Given the description of an element on the screen output the (x, y) to click on. 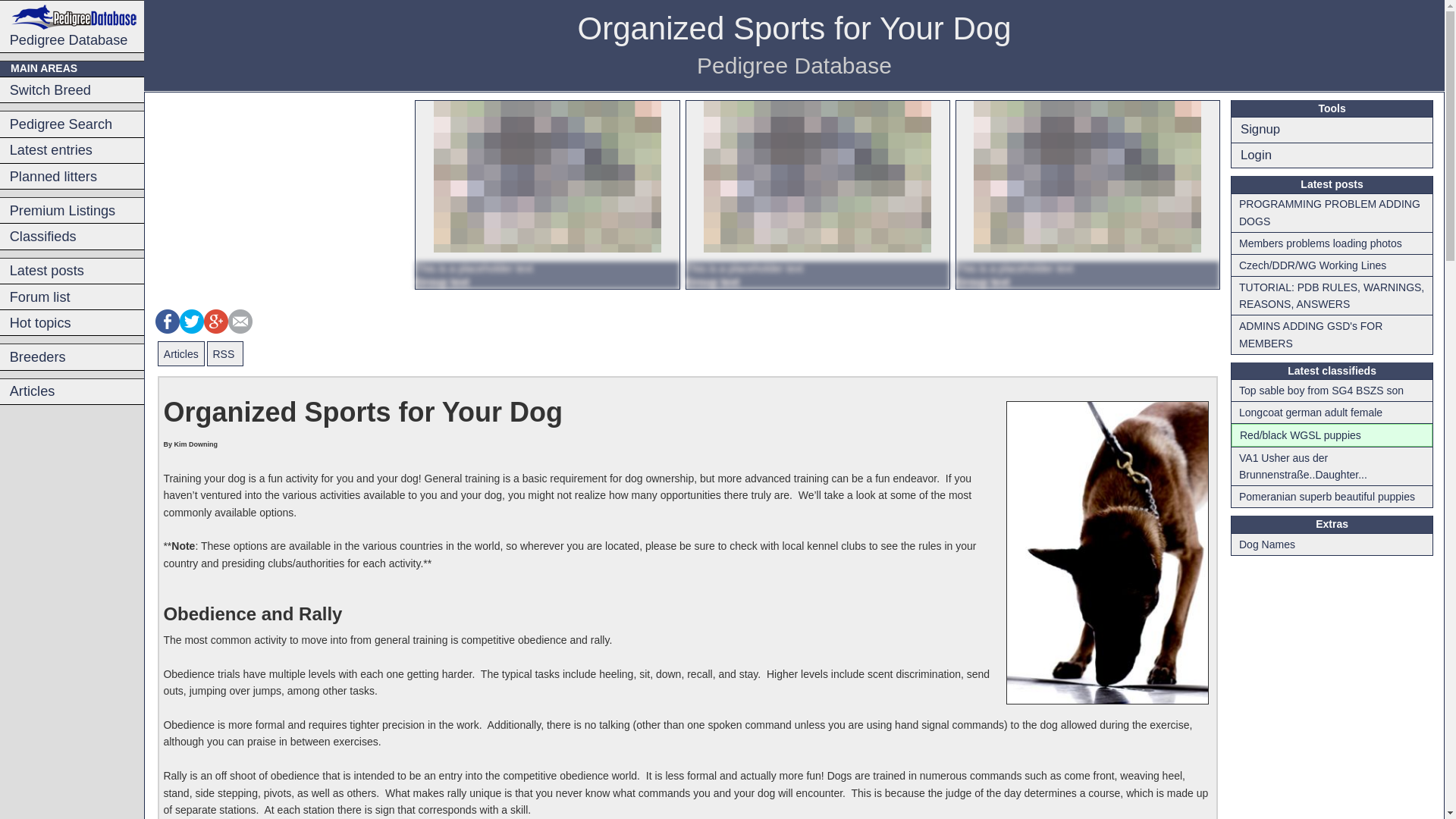
Members problems loading photos (1331, 242)
Signup (1331, 129)
Articles (72, 391)
TUTORIAL: PDB RULES, WARNINGS, REASONS, ANSWERS (1331, 295)
Tweet (191, 320)
Articles (180, 353)
PROGRAMMING PROBLEM ADDING DOGS (1331, 212)
ADMINS ADDING GSD's FOR MEMBERS (1331, 333)
Premium Listings (72, 210)
Switch Breed (72, 89)
